Given the description of an element on the screen output the (x, y) to click on. 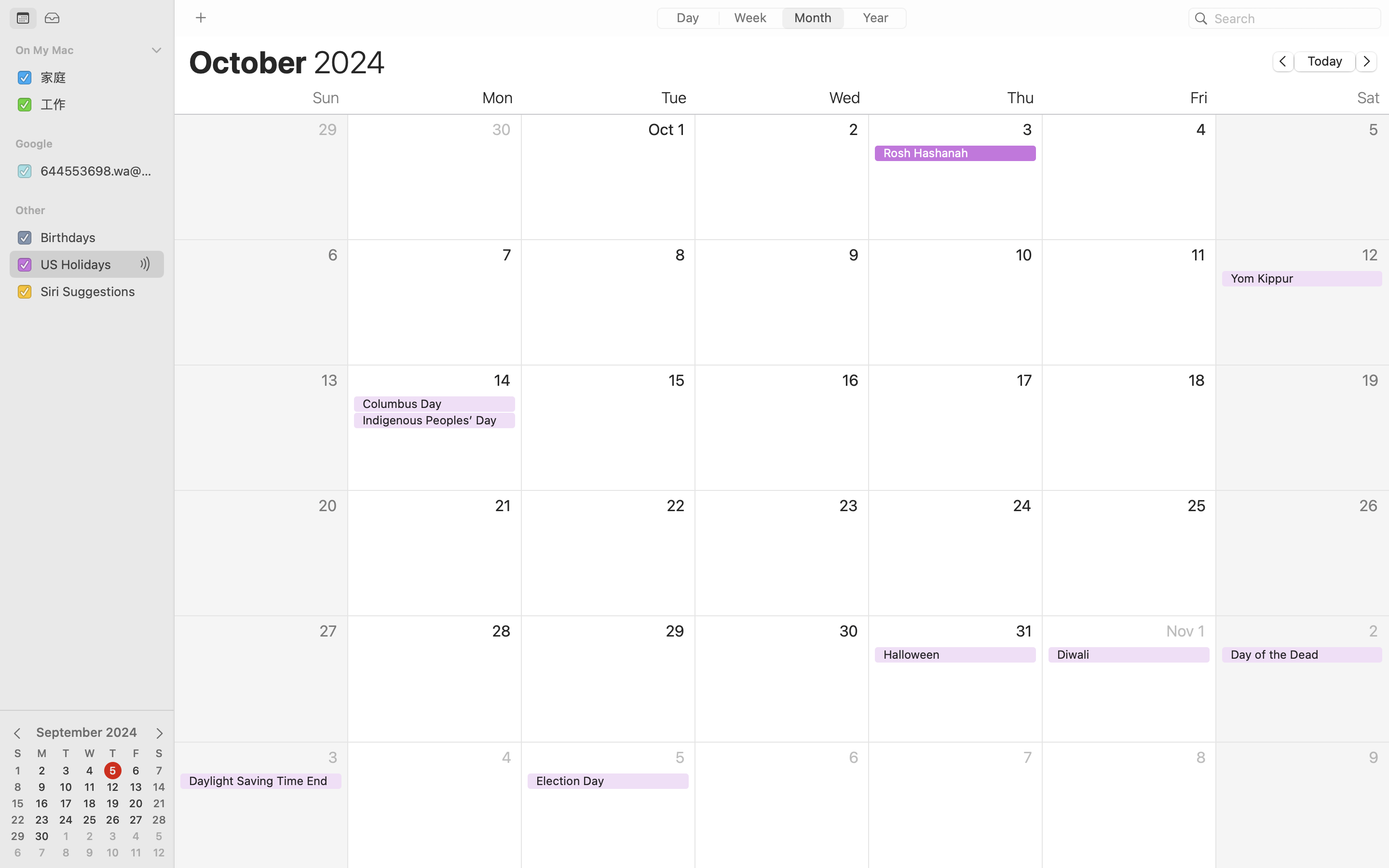
644553698.wa@gmail.com Element type: AXTextField (98, 170)
16 Element type: AXStaticText (41, 803)
26 Element type: AXStaticText (112, 820)
23 Element type: AXStaticText (41, 820)
US Holidays Element type: AXTextField (88, 263)
